Given the description of an element on the screen output the (x, y) to click on. 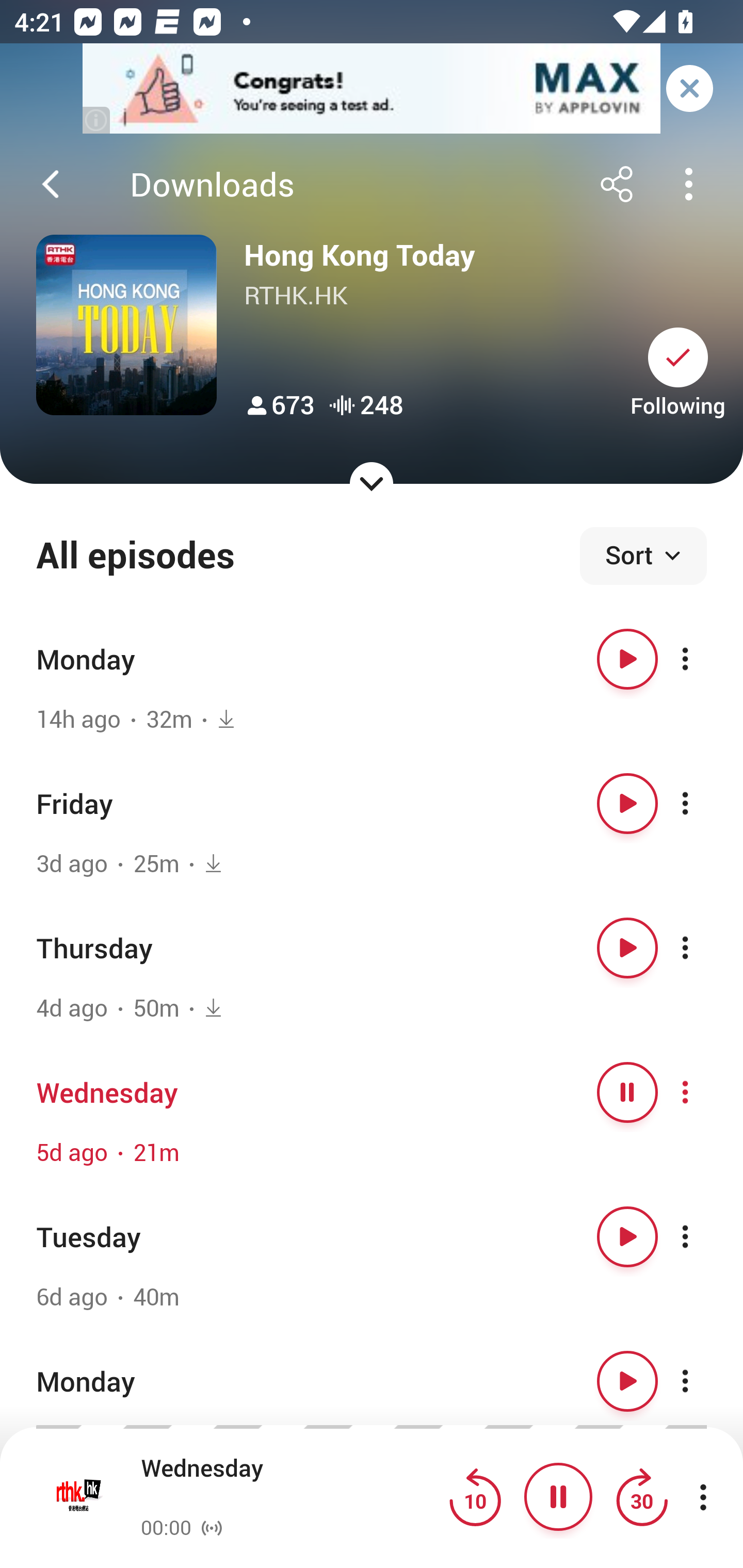
app-monetization (371, 88)
(i) (96, 119)
Back (50, 184)
Unsubscribe button (677, 357)
Sort episodes Sort (643, 555)
Play button (627, 659)
More options (703, 659)
Play button (627, 803)
More options (703, 803)
Play button (627, 947)
More options (703, 947)
Pause button (627, 1092)
More options (703, 1092)
Play button (627, 1236)
More options (703, 1236)
Play button (627, 1381)
More options (703, 1381)
Open fullscreen player (79, 1497)
More player controls (703, 1497)
Wednesday (290, 1484)
Pause button (558, 1496)
Jump back (475, 1497)
Jump forward (641, 1497)
